Given the description of an element on the screen output the (x, y) to click on. 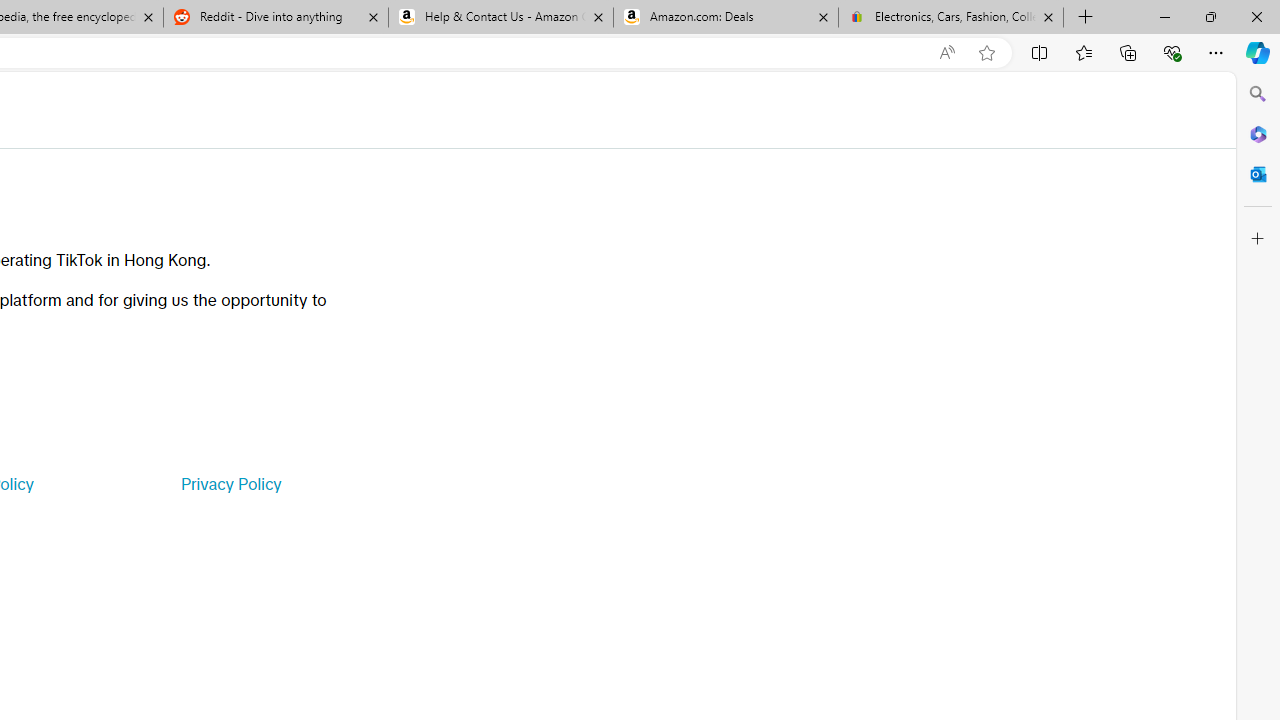
Privacy Policy (230, 484)
